Given the description of an element on the screen output the (x, y) to click on. 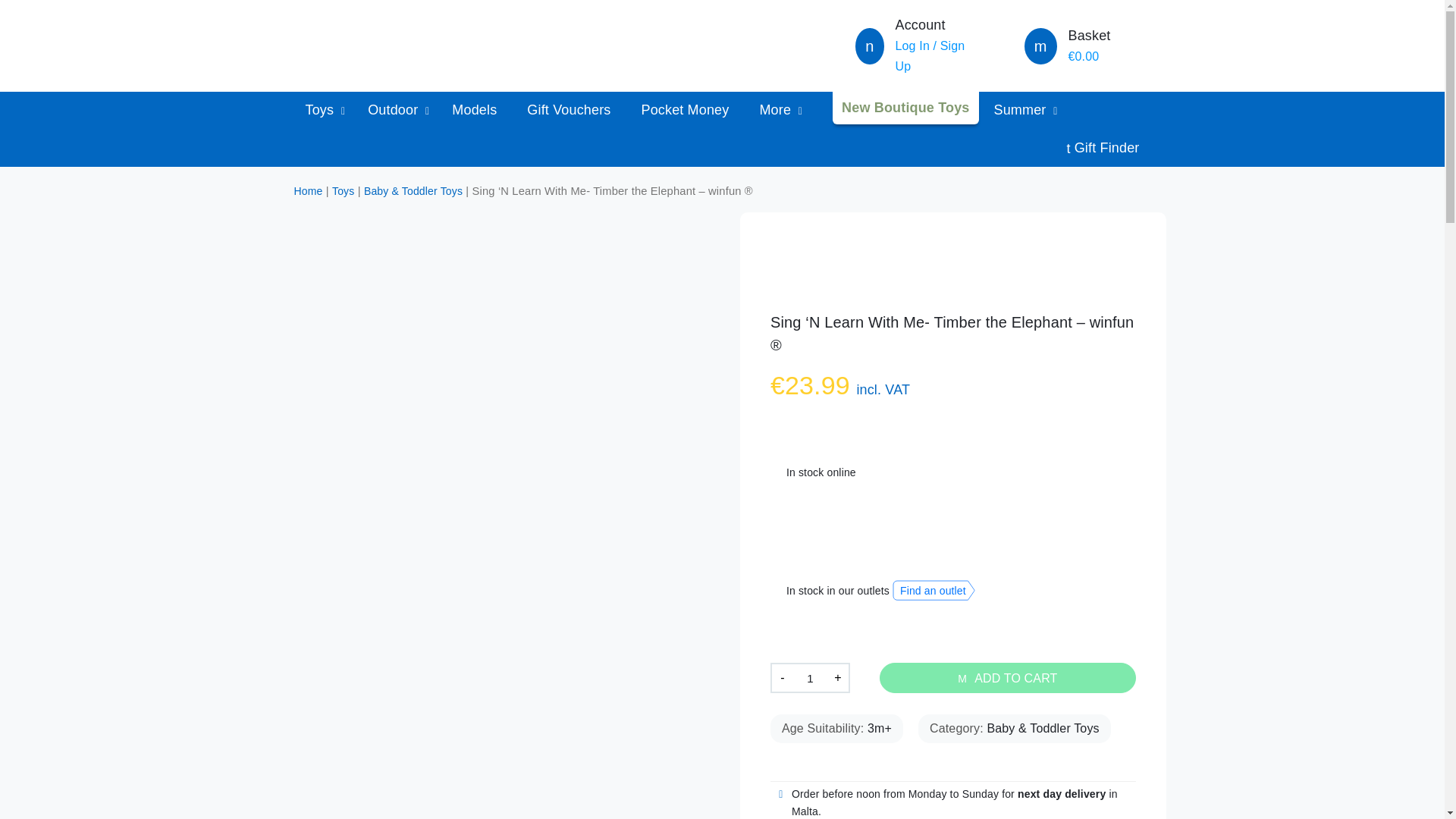
Find an outlet (933, 589)
Outdoor (394, 109)
Toys (320, 109)
1 (810, 677)
n (869, 47)
m (1041, 47)
Qty (810, 677)
